Given the description of an element on the screen output the (x, y) to click on. 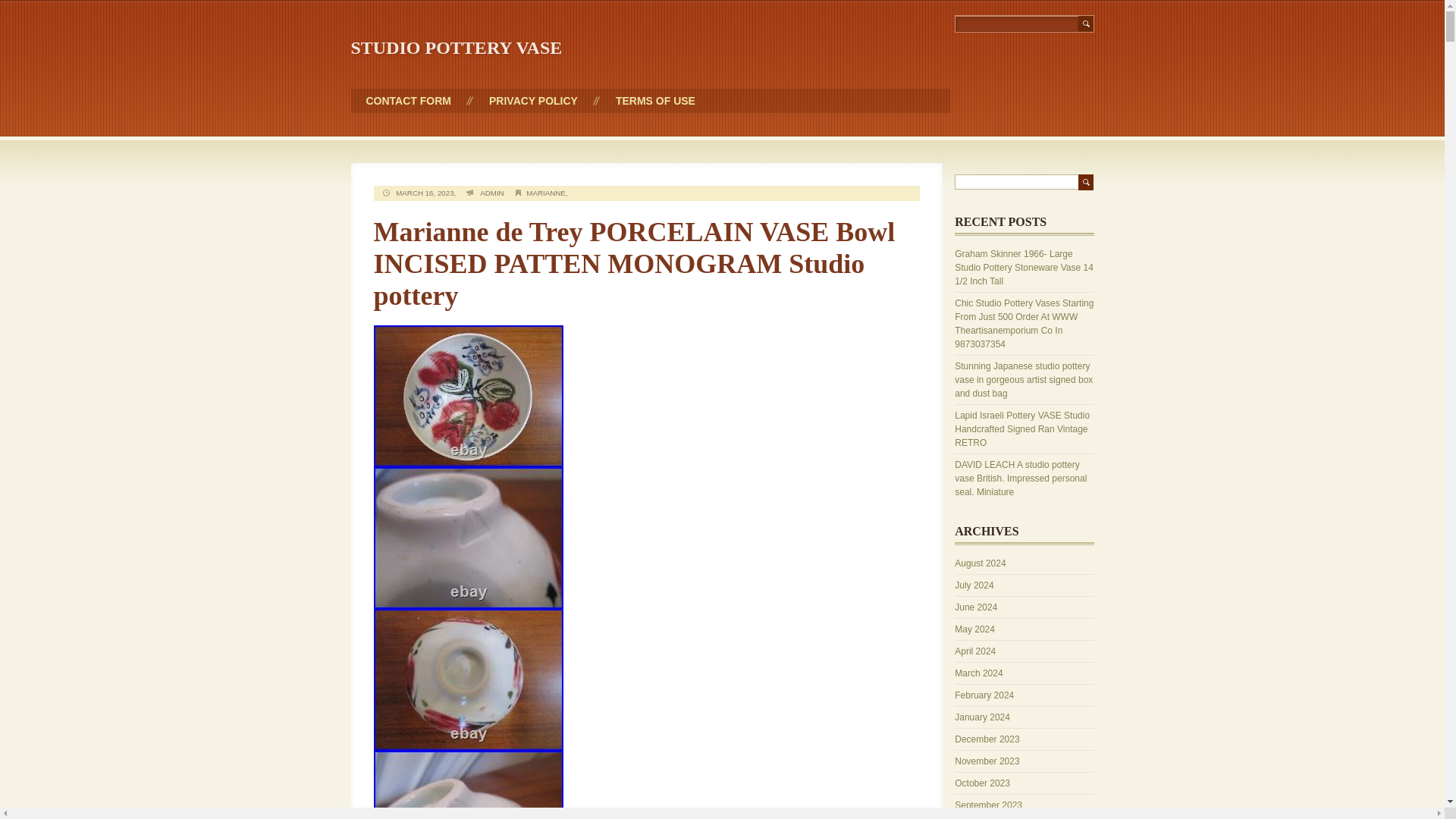
July 2024 (973, 584)
June 2024 (976, 606)
August 2024 (980, 562)
PRIVACY POLICY (533, 100)
MARIANNE (544, 193)
October 2023 (982, 783)
February 2024 (984, 695)
January 2024 (982, 716)
